Given the description of an element on the screen output the (x, y) to click on. 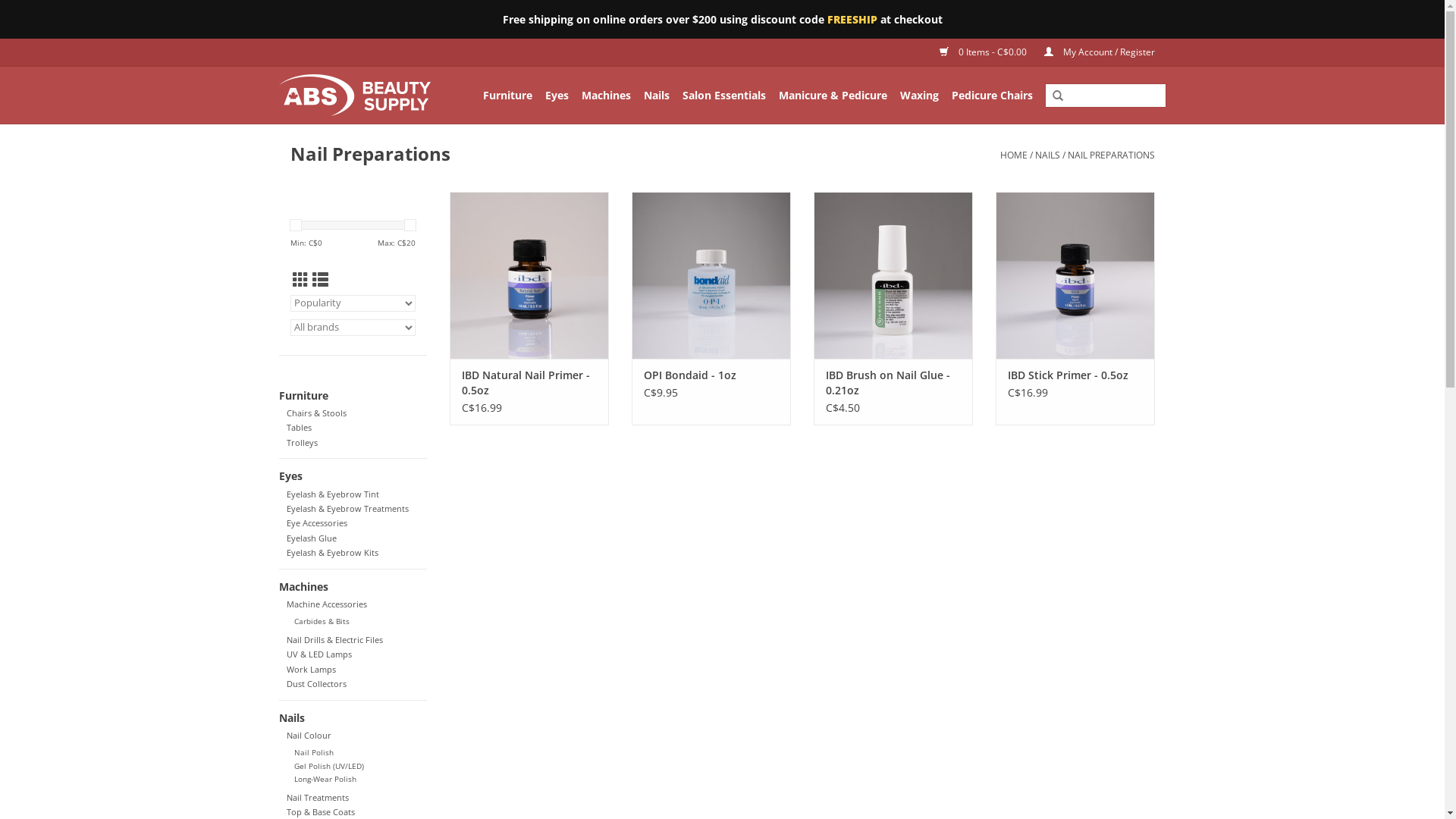
Chairs & Stools Element type: text (316, 412)
NAILS Element type: text (1046, 154)
Trolleys Element type: text (301, 442)
Gel Polish (UV/LED) Element type: text (329, 766)
Nail Treatments Element type: text (317, 797)
IBD Brush on Nail Glue - 0.21oz Element type: text (892, 382)
Eyes Element type: text (352, 475)
Manicure & Pedicure Element type: text (832, 95)
Eyelash & Eyebrow Kits Element type: text (332, 552)
IBD IBD Stick Primer - 0.5oz Element type: hover (1074, 274)
Furniture Element type: text (352, 394)
Eyelash Glue Element type: text (311, 537)
Eyelash & Eyebrow Treatments Element type: text (347, 508)
Machines Element type: text (605, 95)
Dust Collectors Element type: text (316, 683)
IBD IBD Natural Nail Primer - 0.5oz Element type: hover (528, 274)
IBD IBD Brush on Nail Glue - 0.21oz Element type: hover (892, 274)
Search Element type: hover (1057, 96)
Tables Element type: text (298, 427)
OPI Bondaid - 1oz Element type: text (710, 374)
Top & Base Coats Element type: text (320, 811)
Nails Element type: text (655, 95)
Nail Drills & Electric Files Element type: text (334, 639)
UV & LED Lamps Element type: text (318, 653)
OPI OPI Bondaid - 1oz Element type: hover (710, 274)
Nail Polish Element type: text (313, 752)
Furniture Element type: text (506, 95)
HOME Element type: text (1012, 154)
IBD Natural Nail Primer - 0.5oz Element type: text (528, 382)
NAIL PREPARATIONS Element type: text (1110, 154)
Waxing Element type: text (918, 95)
My Account / Register Element type: text (1091, 51)
Nails Element type: text (352, 717)
Machine Accessories Element type: text (326, 603)
Eyelash & Eyebrow Tint Element type: text (332, 493)
Nail Colour Element type: text (308, 734)
Long-Wear Polish Element type: text (325, 779)
Work Lamps Element type: text (310, 668)
Eye Accessories Element type: text (316, 522)
Carbides & Bits Element type: text (321, 621)
0 Items - C$0.00 Element type: text (975, 51)
ABS Beauty Supply Element type: hover (359, 94)
Salon Essentials Element type: text (723, 95)
IBD Stick Primer - 0.5oz Element type: text (1074, 374)
Pedicure Chairs Element type: text (991, 95)
Eyes Element type: text (555, 95)
Machines Element type: text (352, 586)
